Given the description of an element on the screen output the (x, y) to click on. 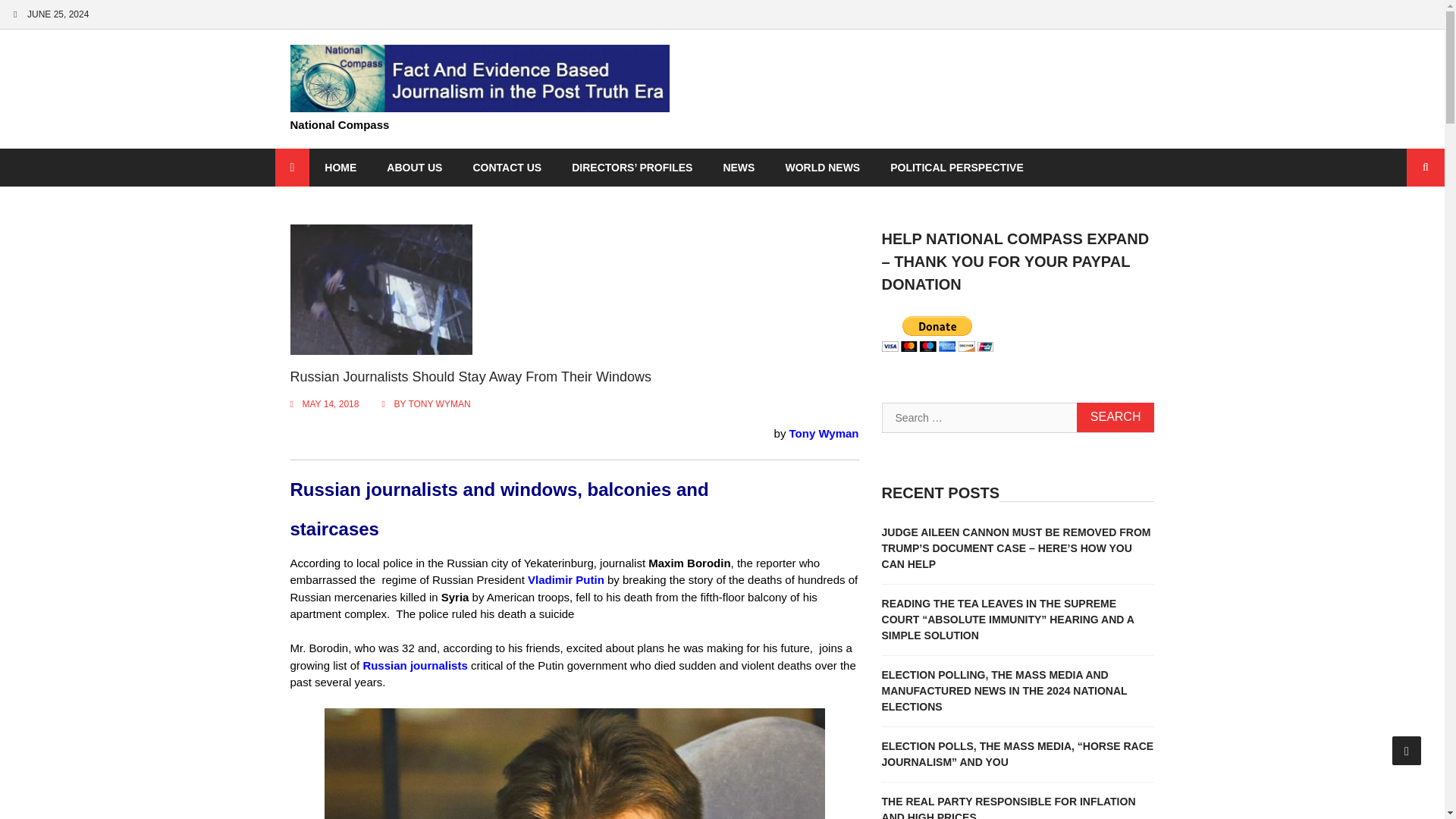
National Compass (338, 124)
Tony Wyman (824, 432)
Search (1115, 417)
POLITICAL PERSPECTIVE (957, 167)
WORLD NEWS (822, 167)
TONY WYMAN (438, 403)
ABOUT US (414, 167)
Russian journalists (414, 665)
CONTACT US (506, 167)
Vladimir Putin (565, 579)
